Given the description of an element on the screen output the (x, y) to click on. 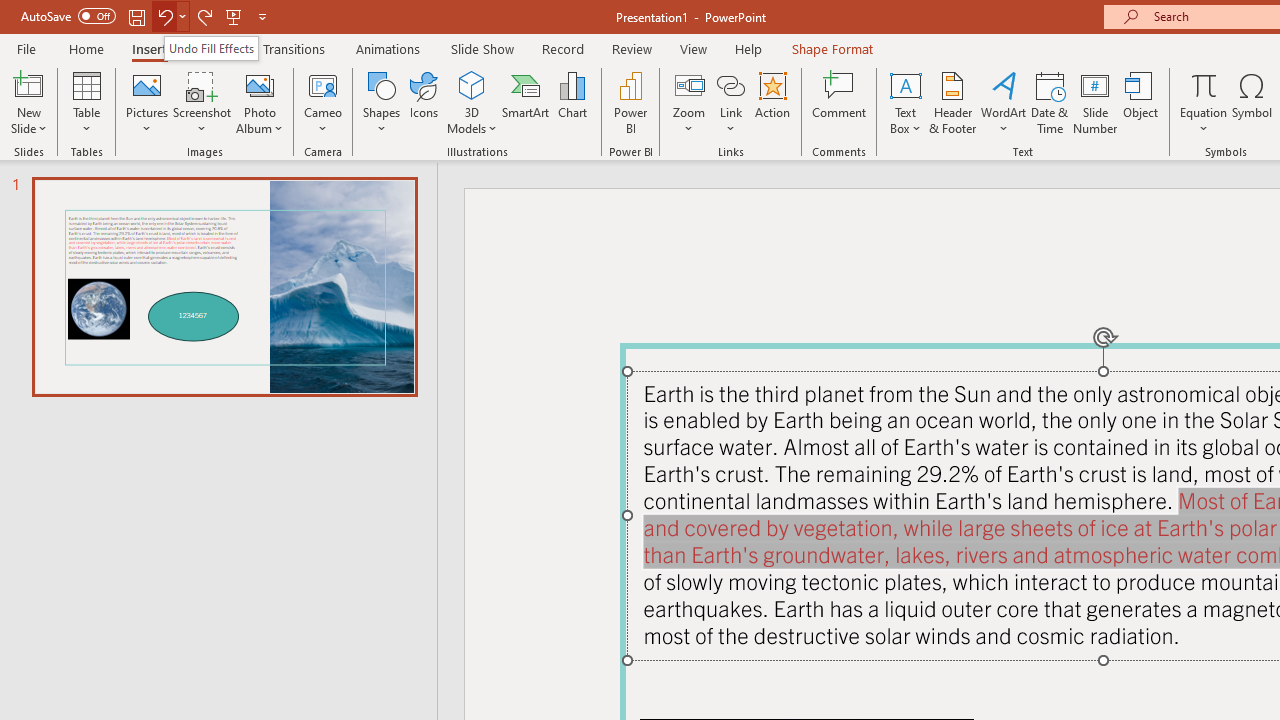
Screenshot (202, 102)
Action (772, 102)
Object... (1141, 102)
